Given the description of an element on the screen output the (x, y) to click on. 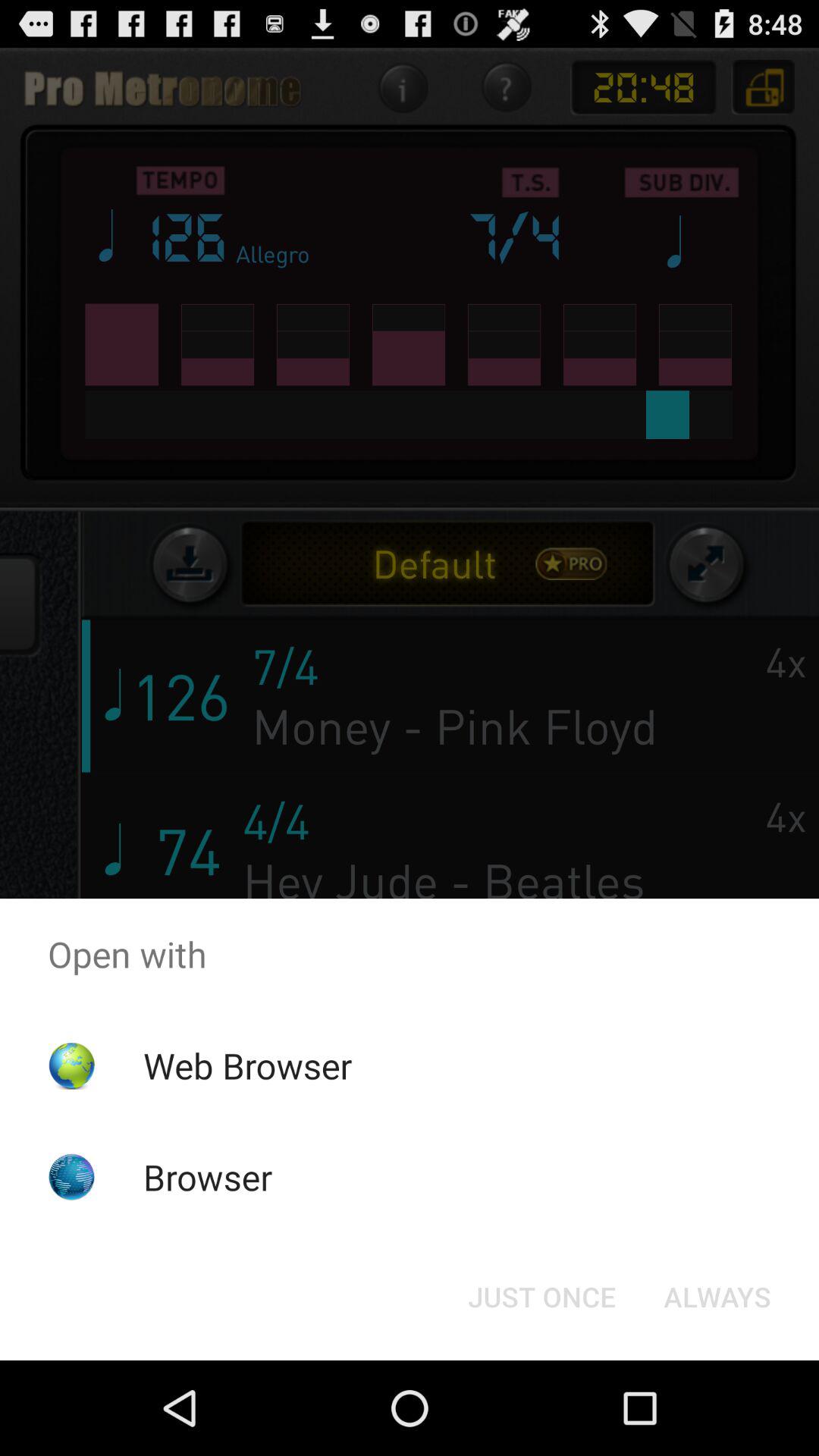
turn on the item to the left of the always icon (541, 1296)
